Given the description of an element on the screen output the (x, y) to click on. 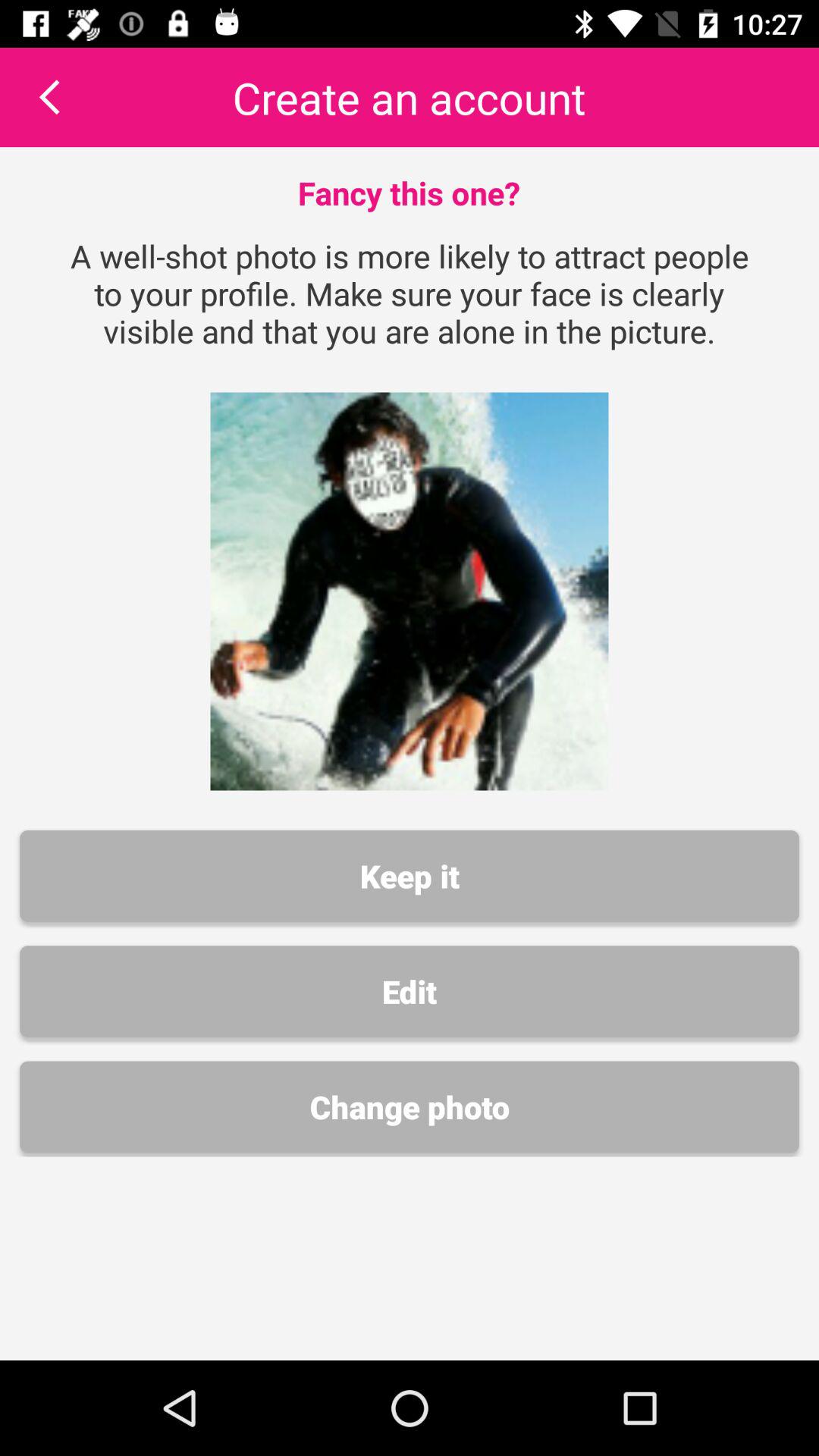
launch item below keep it (409, 991)
